Given the description of an element on the screen output the (x, y) to click on. 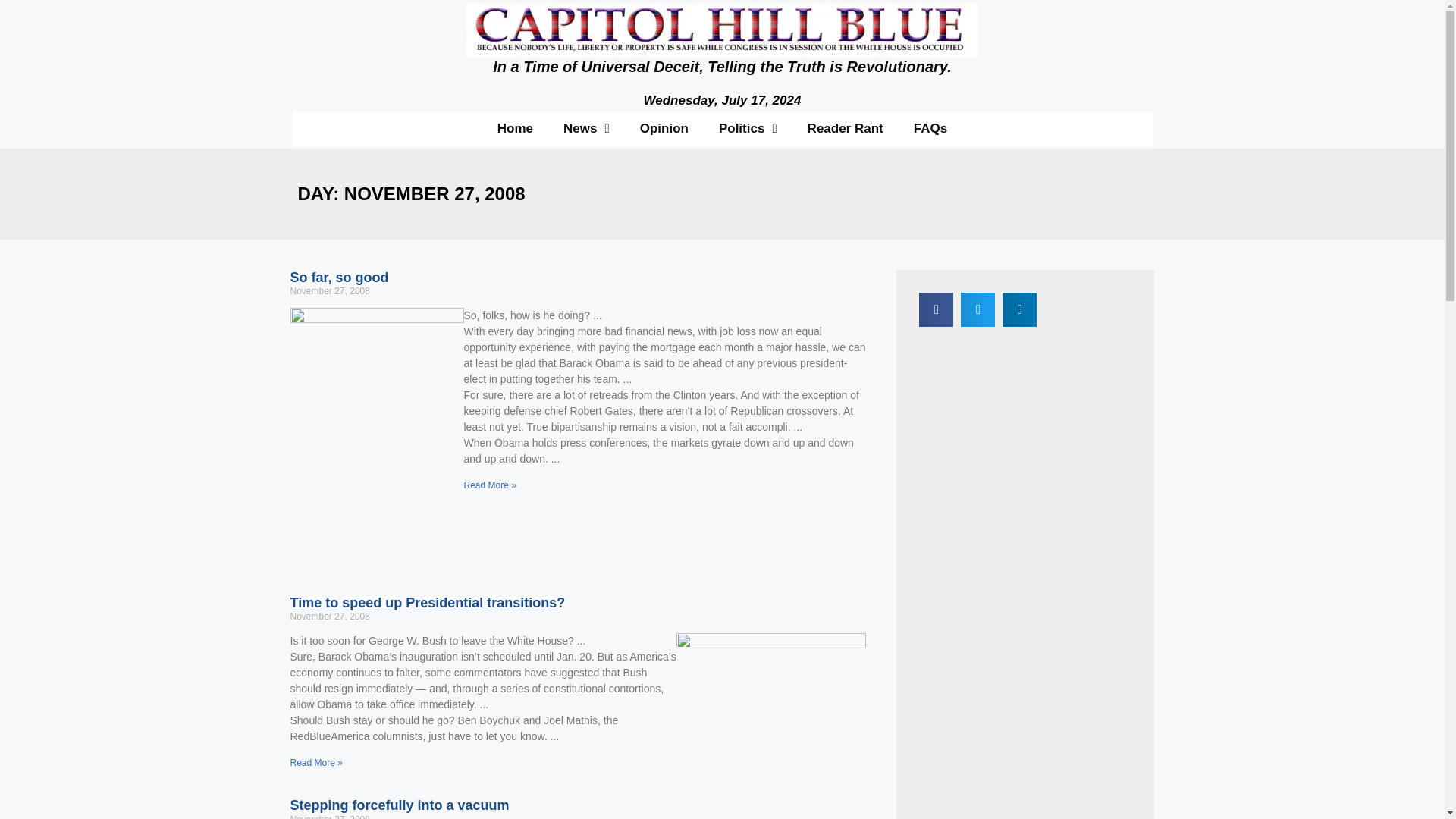
Reader Rant (845, 127)
DAY: NOVEMBER 27, 2008 (410, 193)
Home (514, 127)
Time to speed up Presidential transitions? (426, 602)
Opinion (663, 127)
Stepping forcefully into a vacuum (398, 805)
So far, so good (338, 277)
Politics (747, 127)
News (586, 127)
FAQs (930, 127)
